Given the description of an element on the screen output the (x, y) to click on. 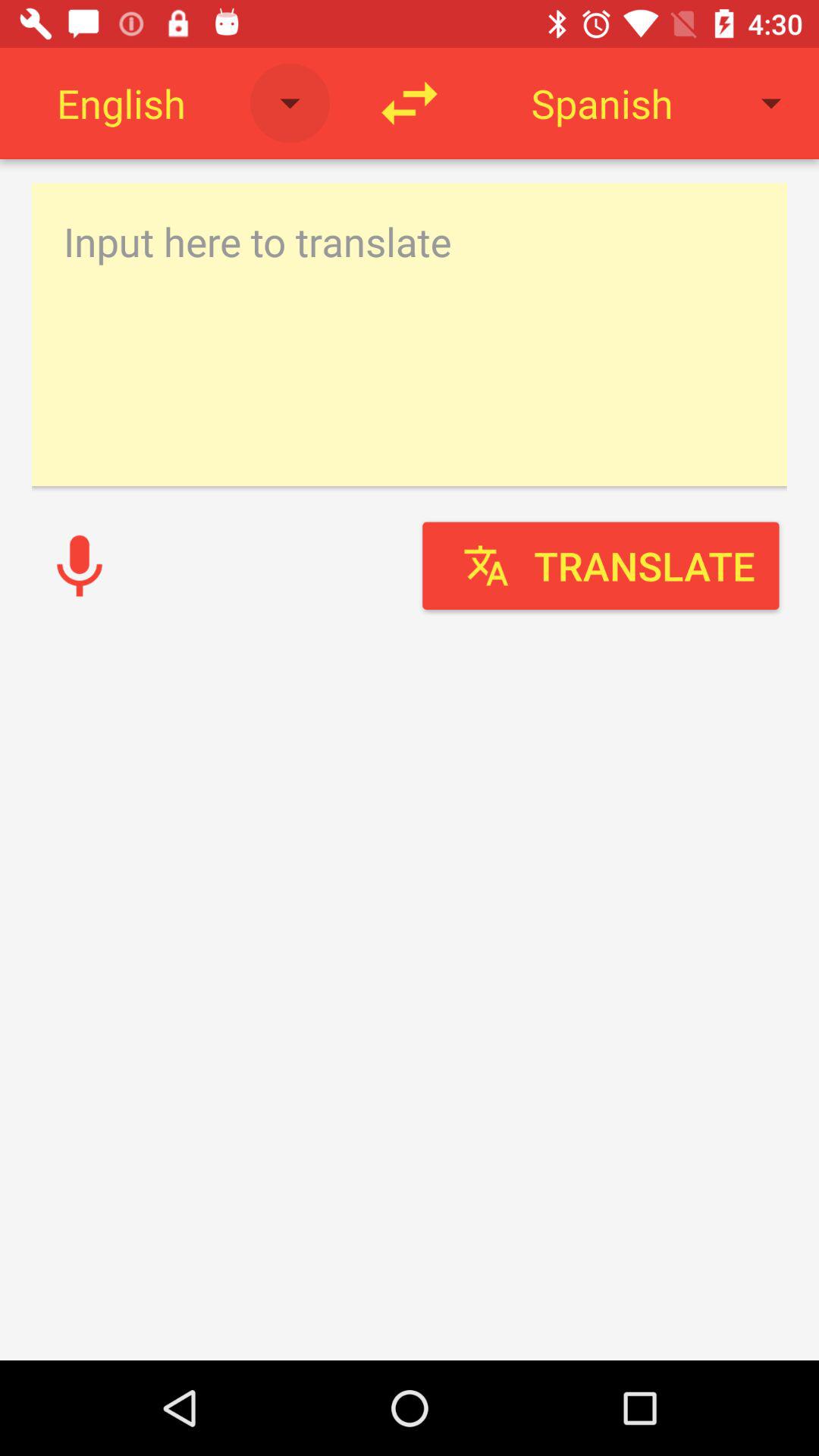
writing text box (409, 334)
